Given the description of an element on the screen output the (x, y) to click on. 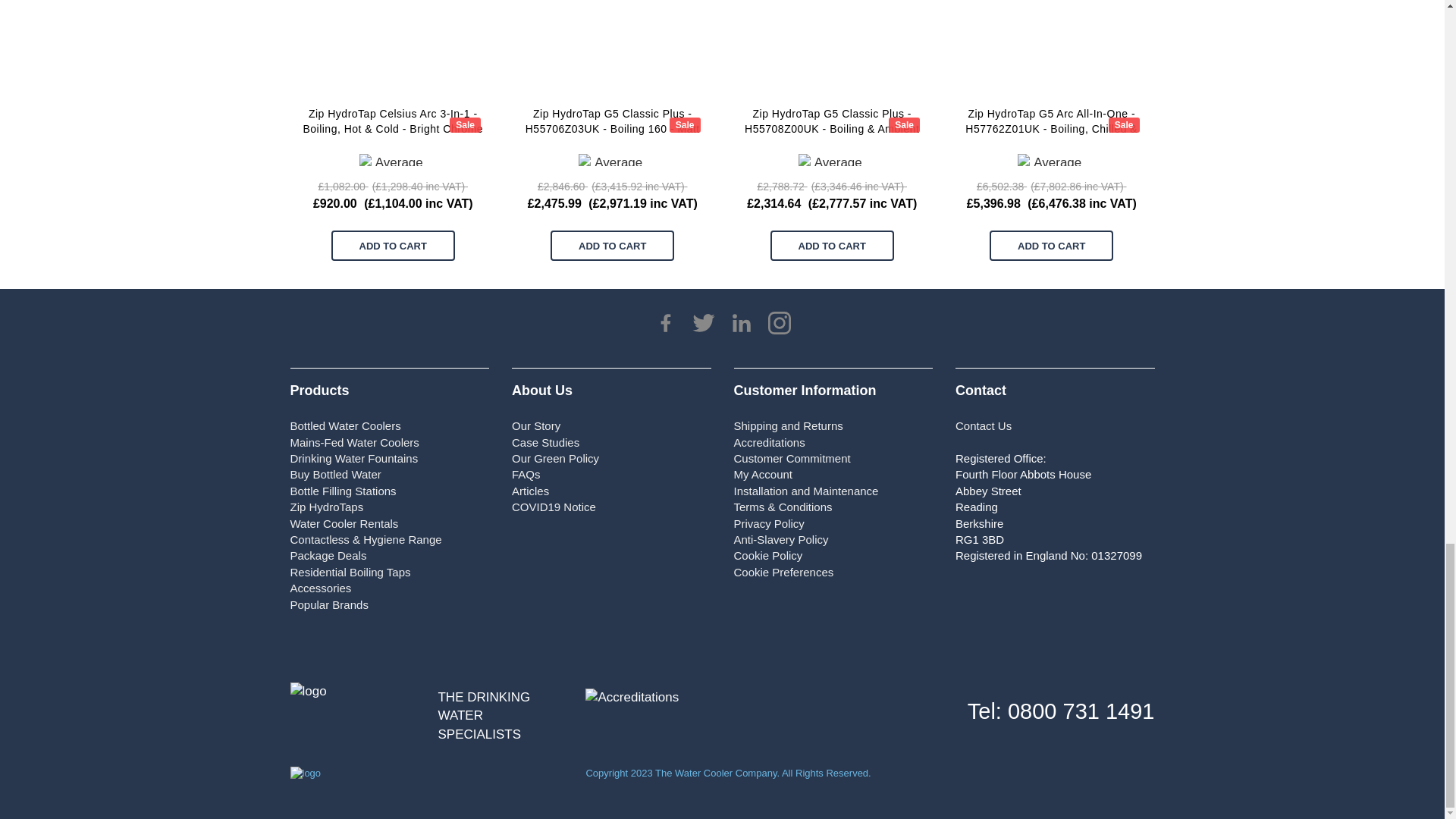
Add To Cart (1051, 245)
Add To Cart (831, 245)
Add To Cart (392, 245)
Add To Cart (612, 245)
